Given the description of an element on the screen output the (x, y) to click on. 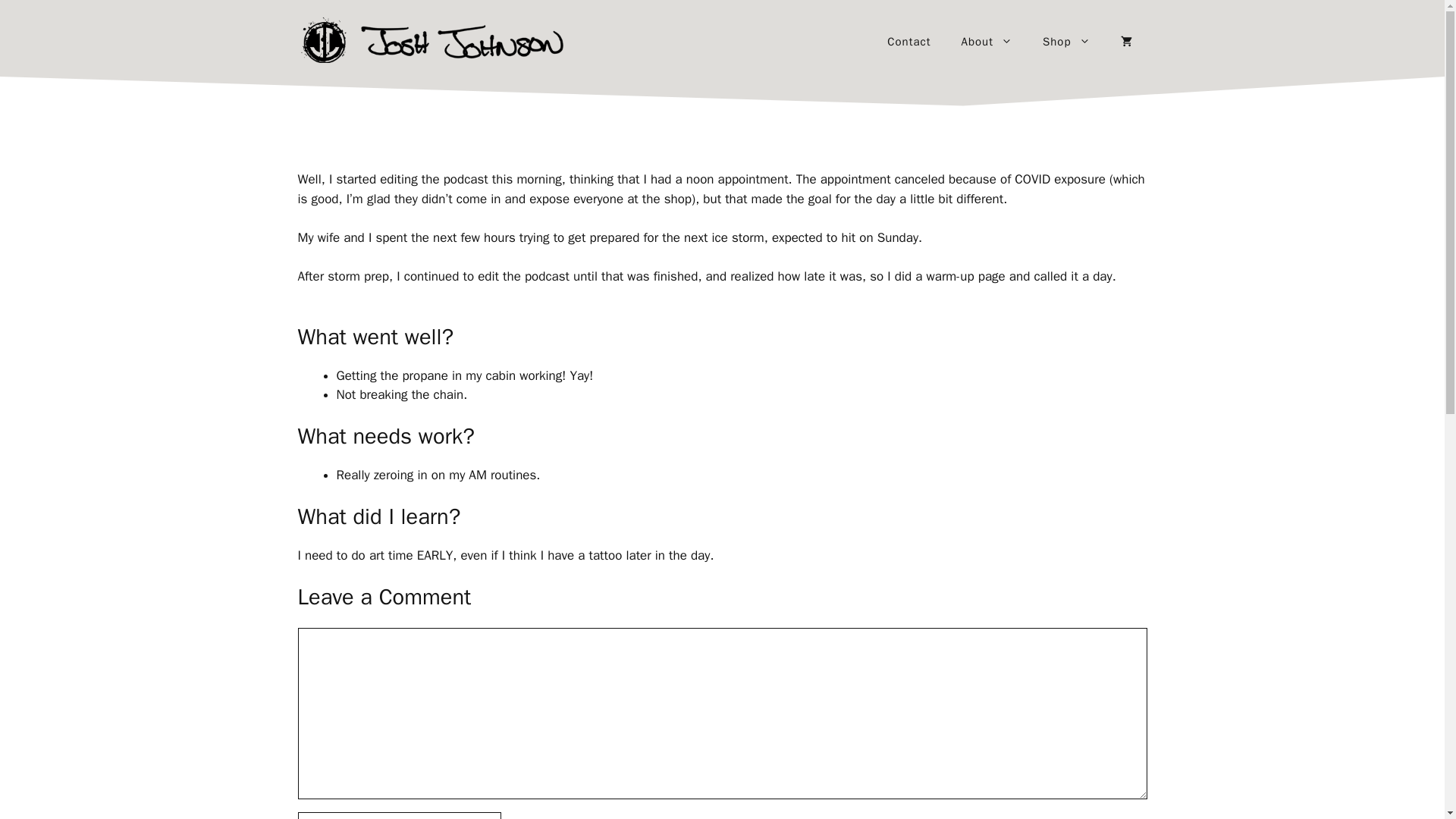
Contact (908, 41)
About (986, 41)
Shop (1066, 41)
View your shopping cart (1126, 41)
